Given the description of an element on the screen output the (x, y) to click on. 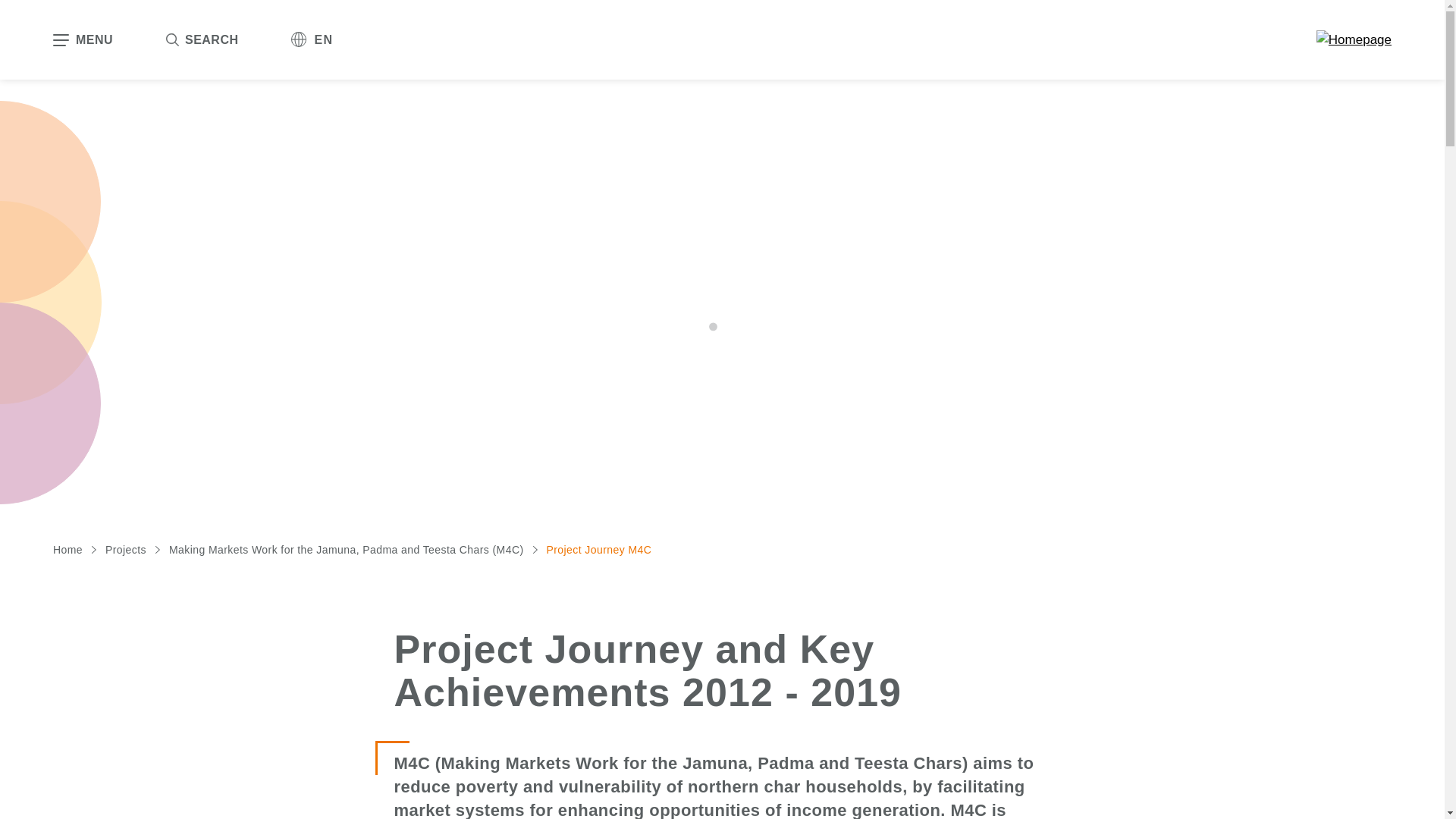
en (312, 39)
Homepage (1353, 38)
